Given the description of an element on the screen output the (x, y) to click on. 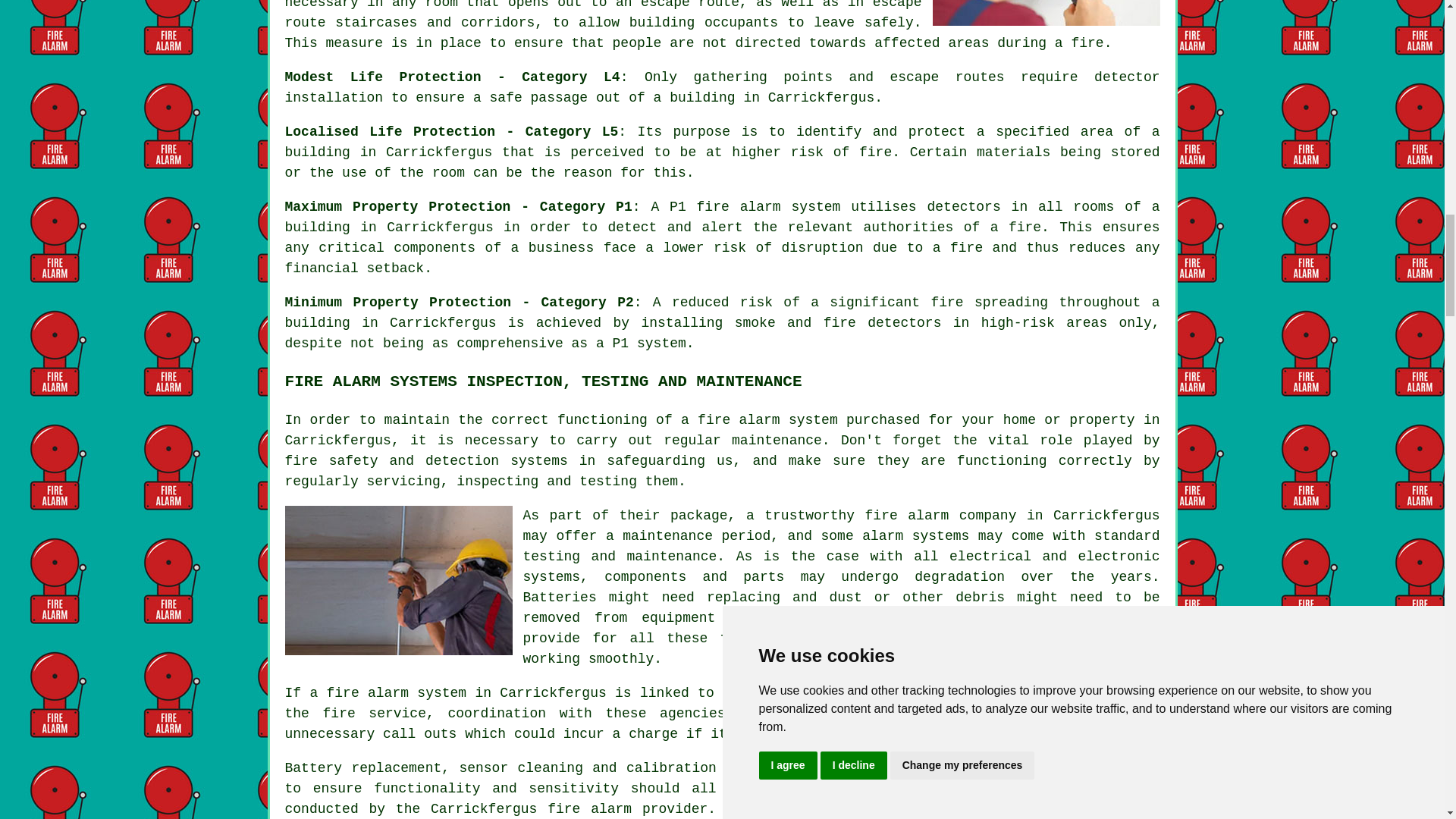
the fire service (355, 713)
fire alarm system (769, 206)
fire alarm provider (627, 808)
a fire alarm system (759, 419)
safe passage (538, 97)
Fire Alarm Installation Near Carrickfergus Northern Ireland (1046, 12)
detectors (903, 322)
